Given the description of an element on the screen output the (x, y) to click on. 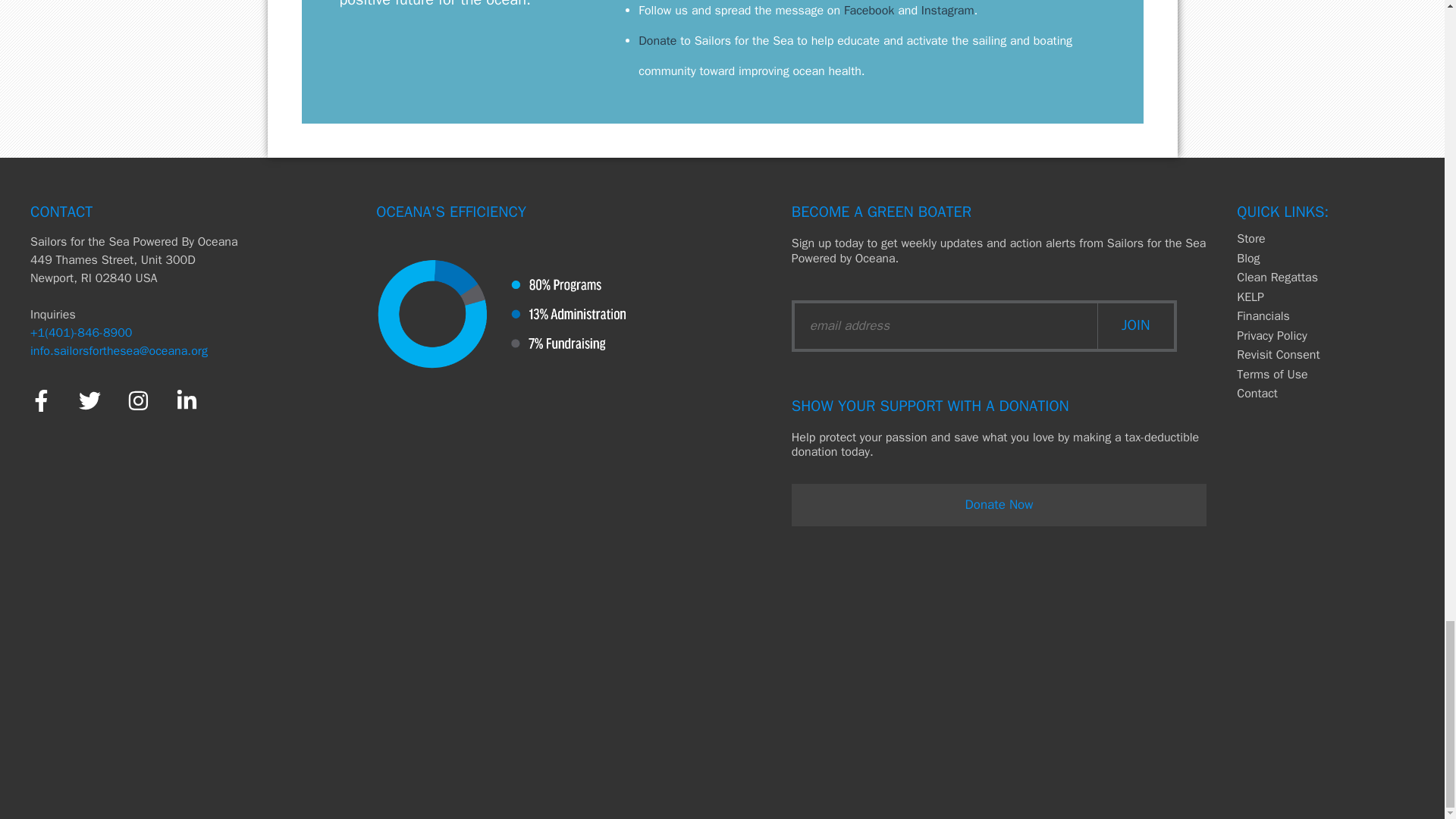
JOIN (1135, 325)
